Given the description of an element on the screen output the (x, y) to click on. 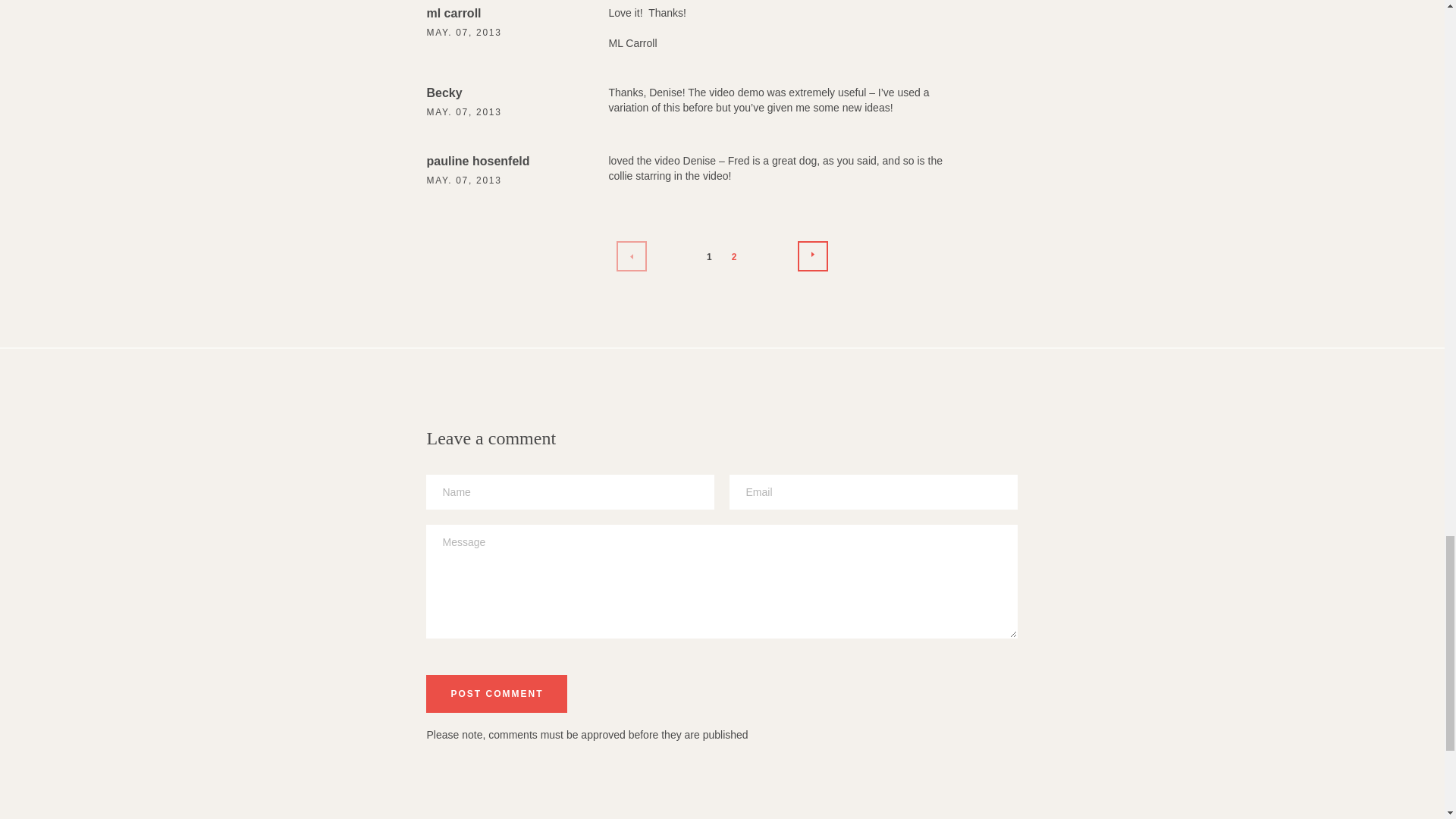
PREVIOUS (630, 255)
Post comment (496, 693)
NEXT (812, 255)
Post comment (496, 693)
